Given the description of an element on the screen output the (x, y) to click on. 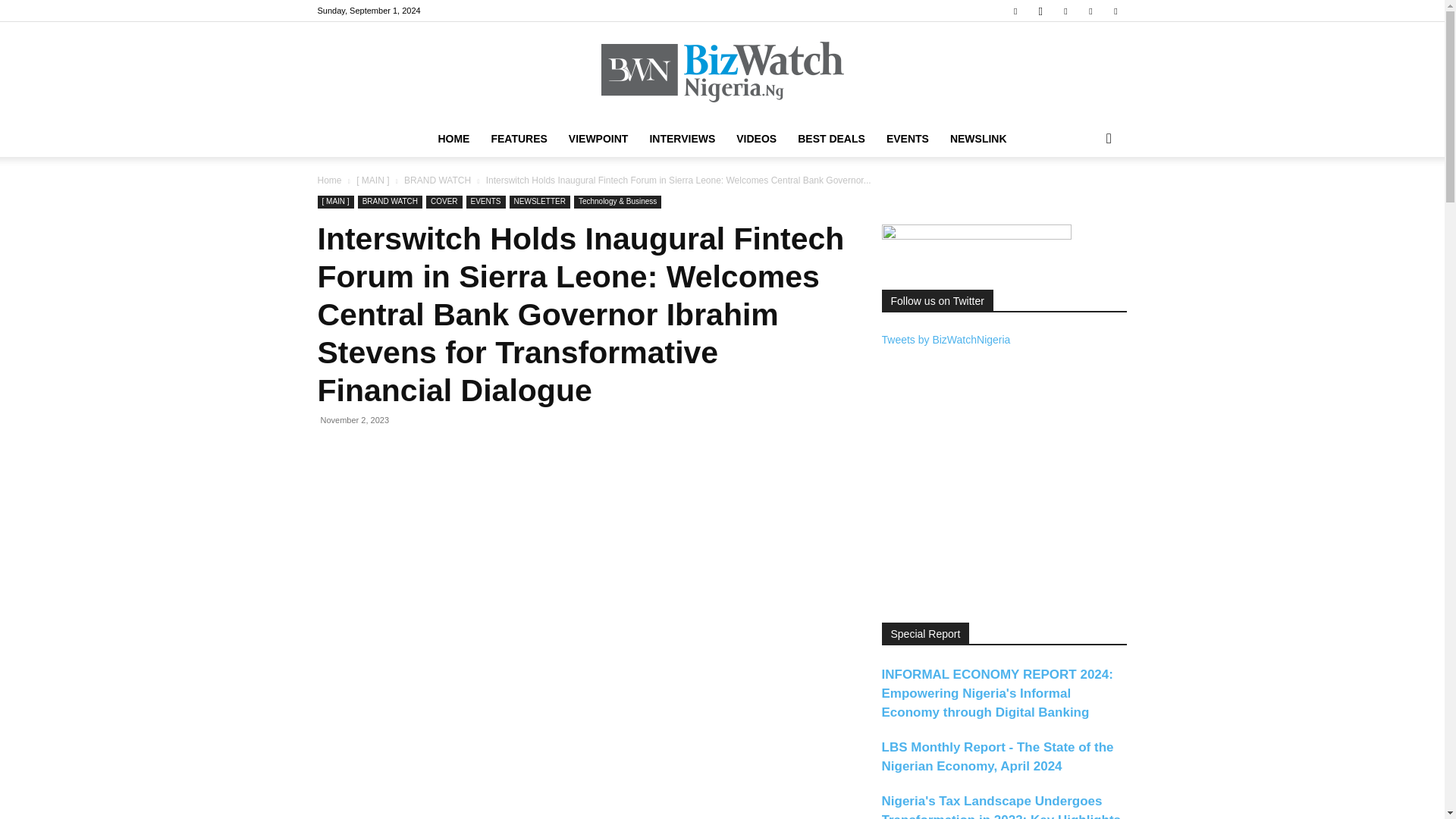
HOME (453, 138)
Twitter (1090, 10)
Facebook (1015, 10)
FEATURES (518, 138)
Linkedin (1065, 10)
Instagram (1040, 10)
Youtube (1114, 10)
